Given the description of an element on the screen output the (x, y) to click on. 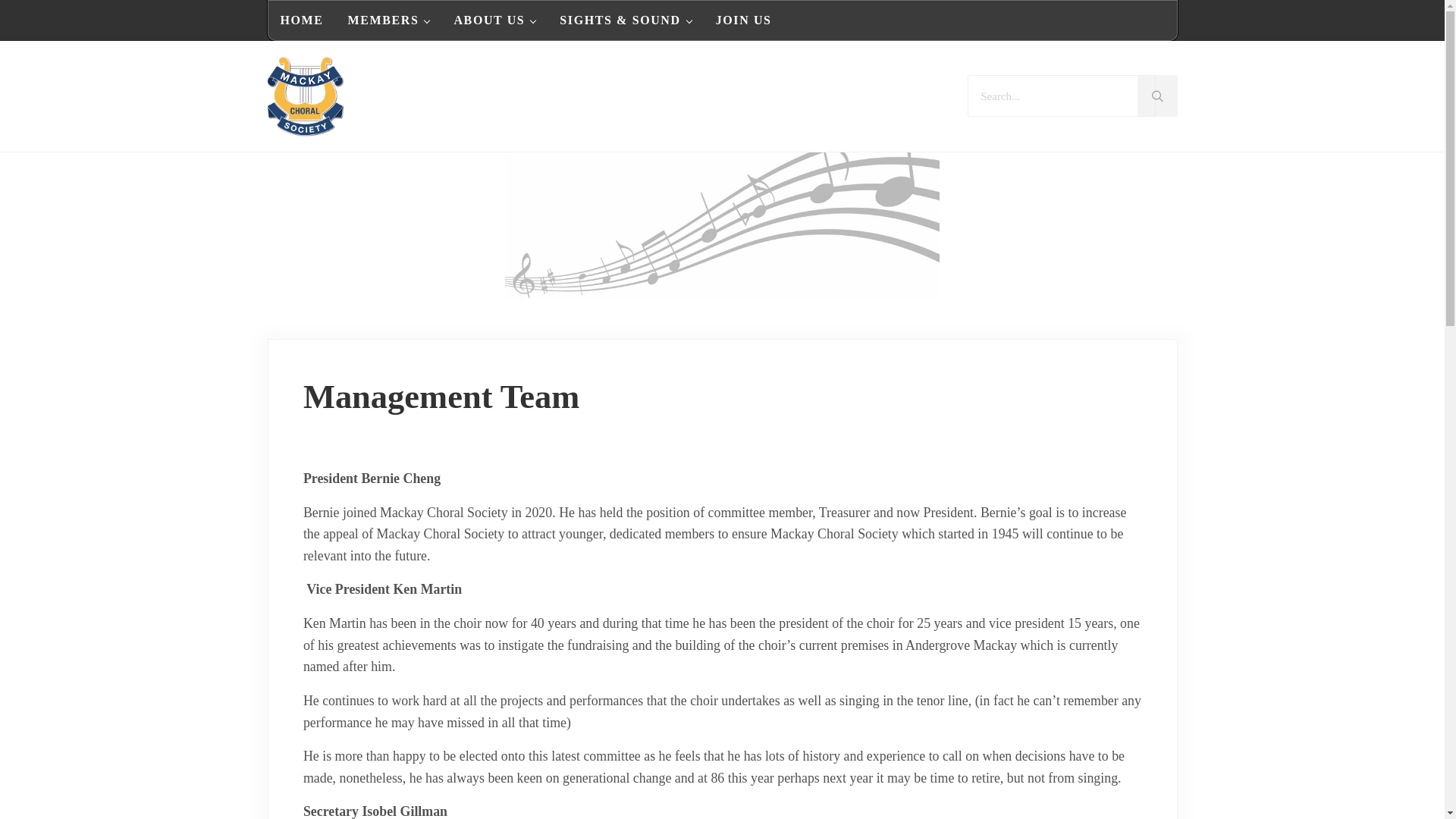
MEMBERS (389, 20)
HOME (301, 20)
ABOUT US (494, 20)
Submit search (1156, 96)
